Given the description of an element on the screen output the (x, y) to click on. 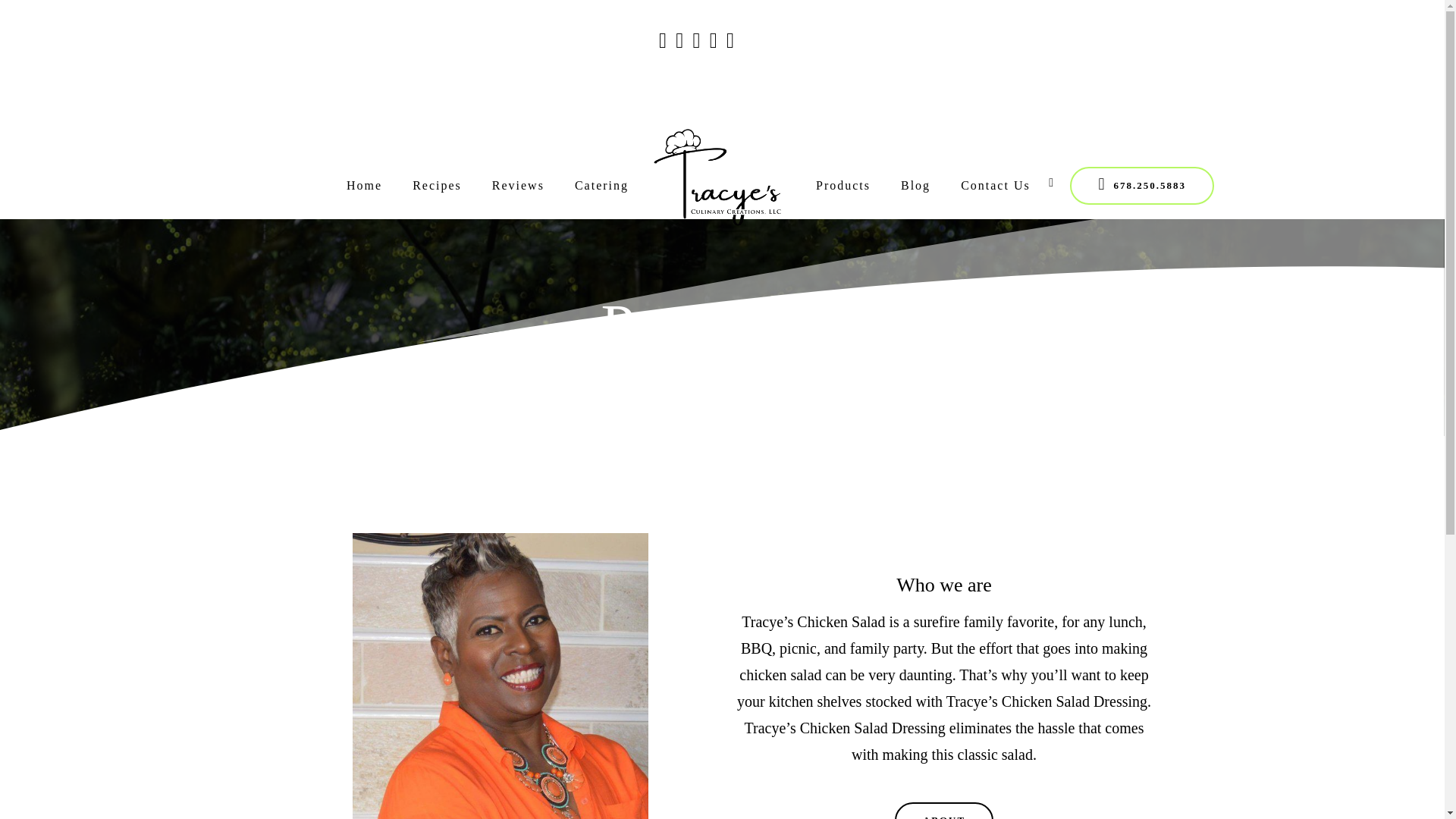
Catering (601, 185)
Contact Us (994, 185)
Home (364, 185)
Recipes (437, 185)
Reviews (518, 185)
Blog (914, 185)
Products (842, 185)
